Given the description of an element on the screen output the (x, y) to click on. 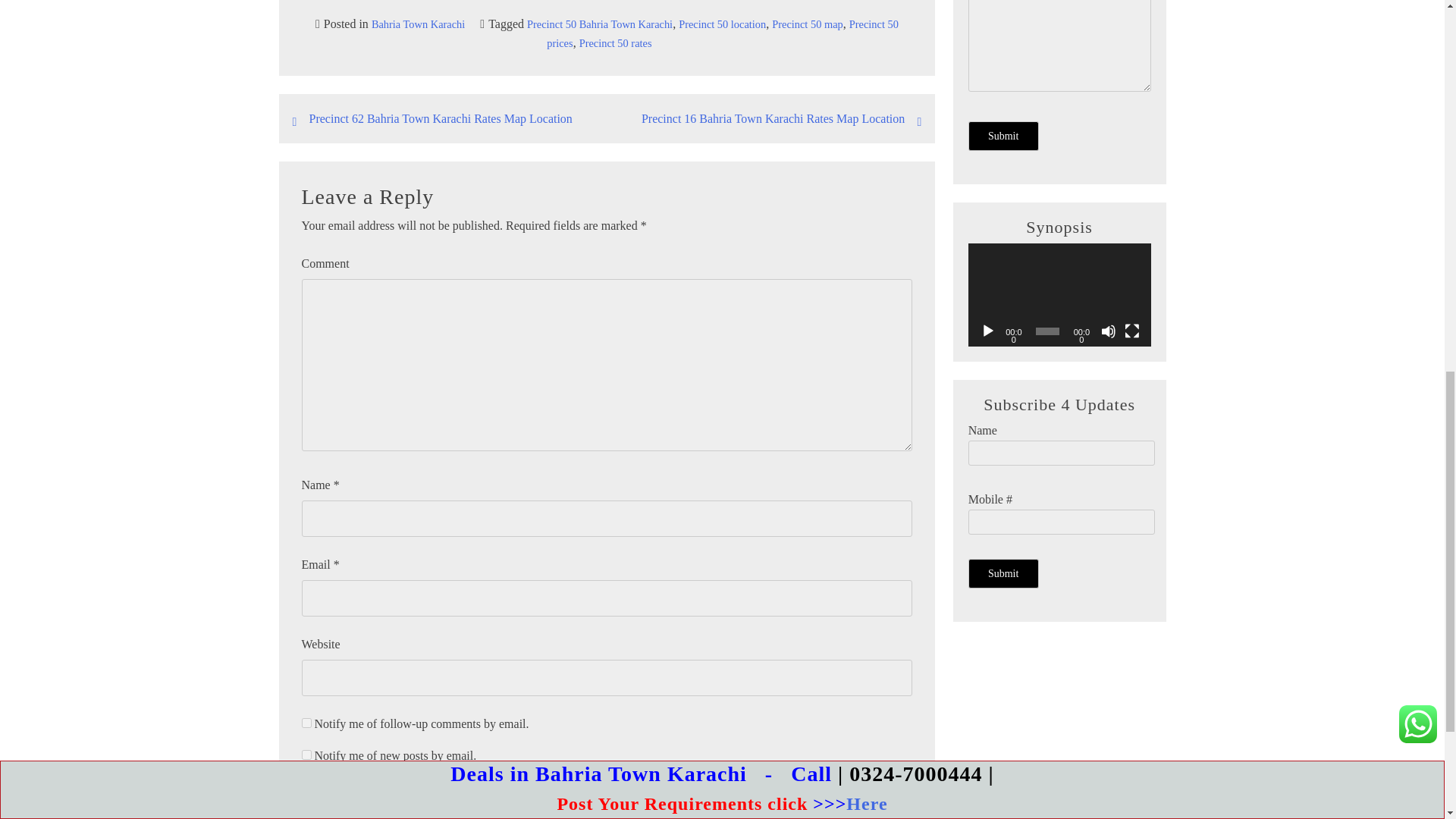
Fullscreen (1132, 331)
Precinct 50 location (721, 24)
Precinct 50 Bahria Town Karachi (599, 24)
Precinct 50 map (807, 24)
Bahria Town Karachi (417, 24)
Post Comment (341, 790)
Mute (1108, 331)
subscribe (306, 755)
Submit (1003, 135)
subscribe (306, 723)
Submit (1003, 573)
Play (987, 331)
